Given the description of an element on the screen output the (x, y) to click on. 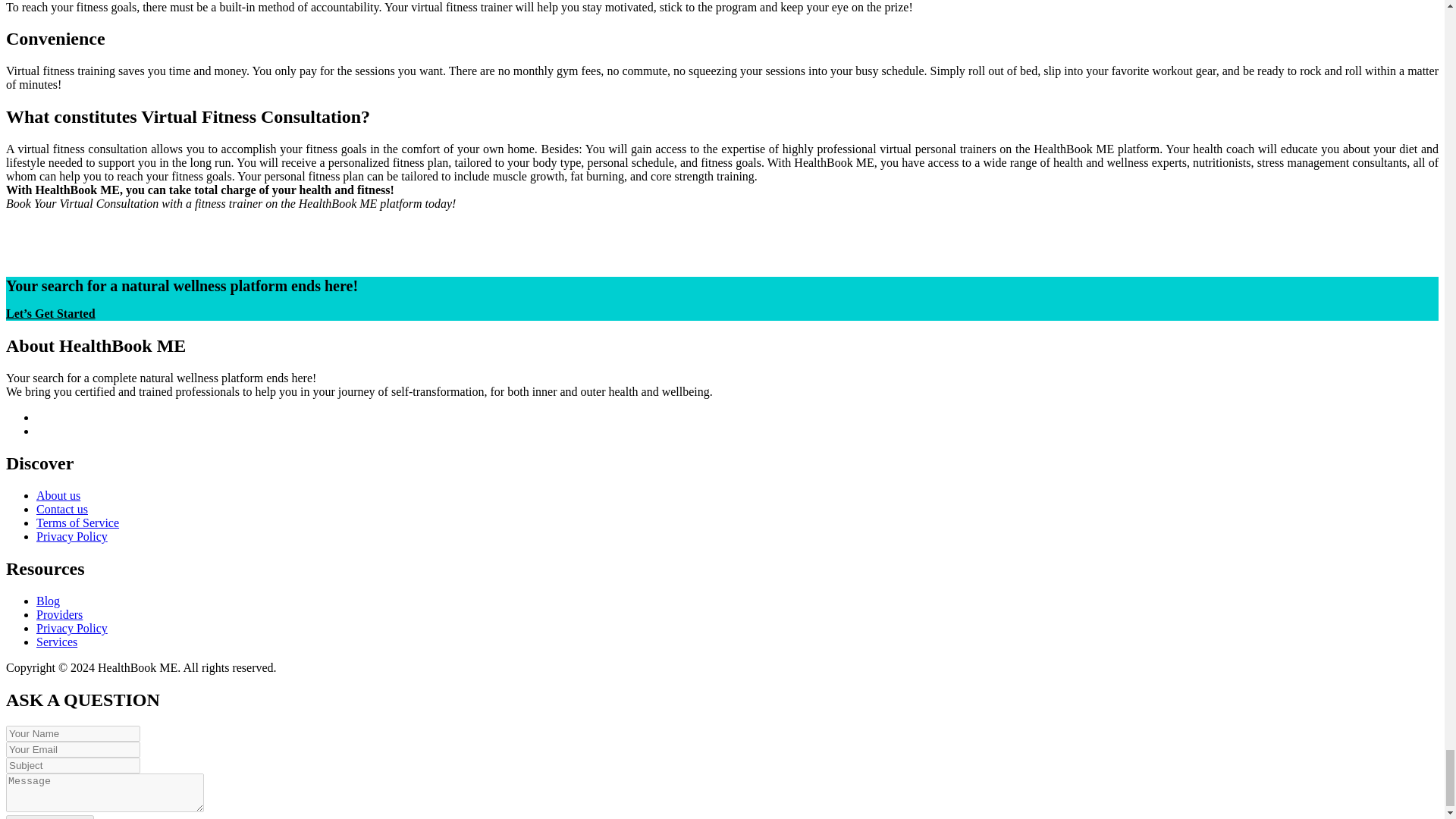
About us (58, 495)
Contact us (61, 508)
